Given the description of an element on the screen output the (x, y) to click on. 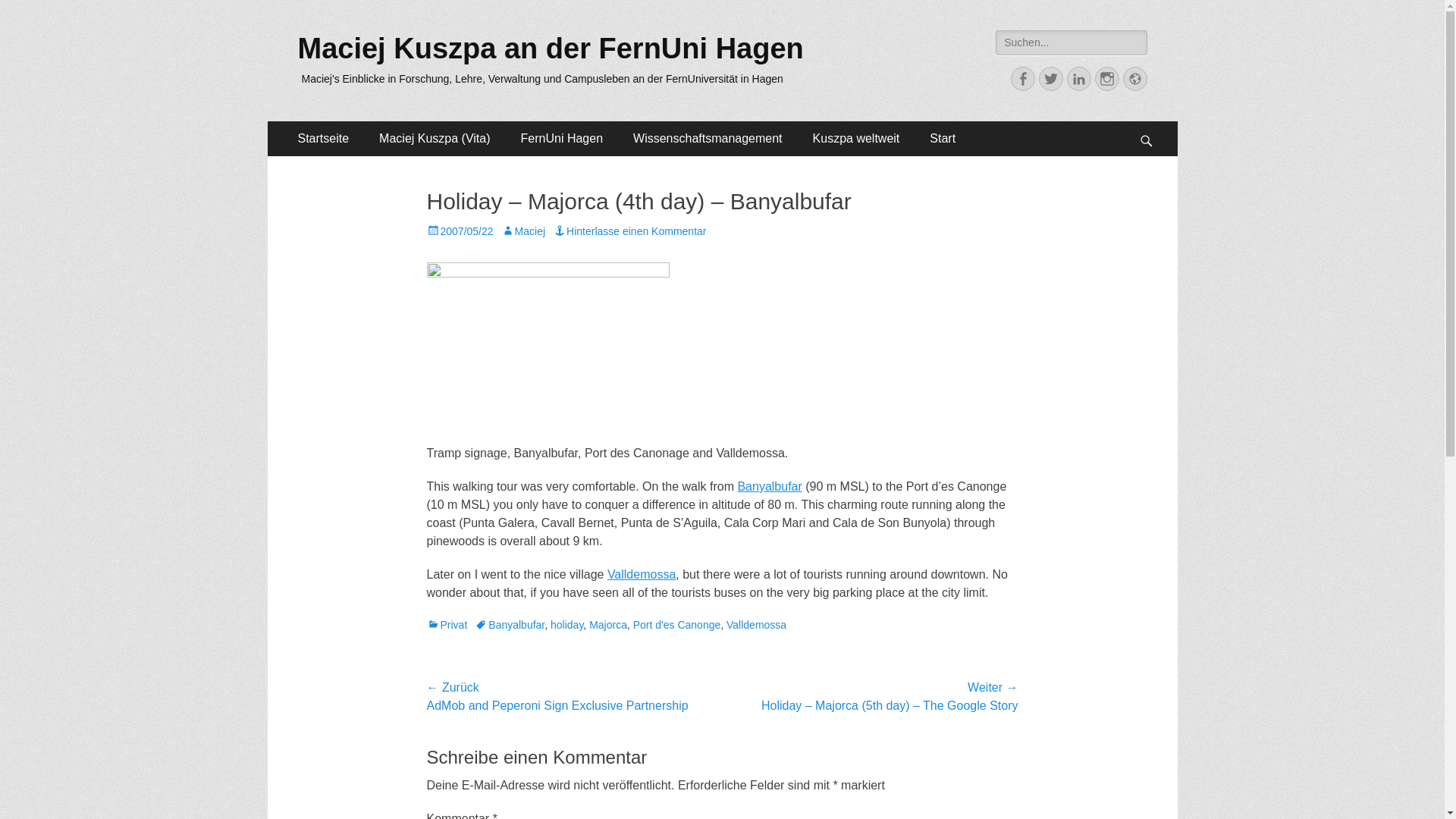
Facebook (1021, 78)
FernUni Hagen (561, 138)
Kuszpa weltweit (856, 138)
Privat (446, 624)
Instagram (1106, 78)
Facebook (1021, 78)
Valldemossa (641, 574)
Banyalbufar (769, 486)
Twitter (1050, 78)
Banyalbufar (769, 486)
2007.05.22-Majorca (547, 353)
Maciej Kuszpa an der FernUni Hagen (550, 48)
Banyalbufar (509, 624)
Suche (31, 13)
